Given the description of an element on the screen output the (x, y) to click on. 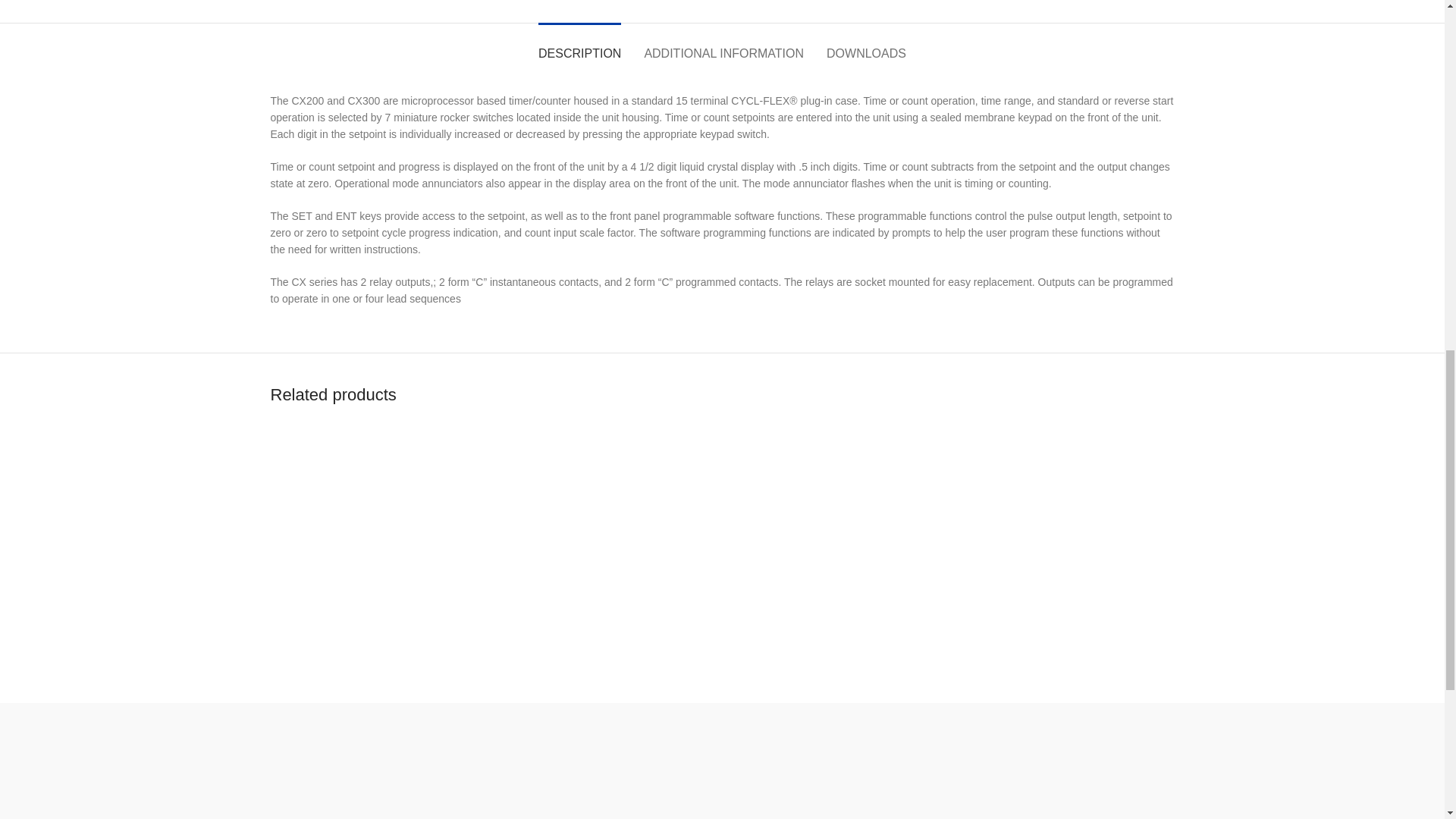
Sifam Tinsley (843, 764)
Conax Technologies (722, 764)
Yokogawa (358, 764)
Rigol Technologies Inc. (1086, 764)
Bauser (1207, 764)
Marvin Test Solutions (600, 764)
ITECH (964, 764)
Hoyt Electrical Instrument Works (479, 764)
